Given the description of an element on the screen output the (x, y) to click on. 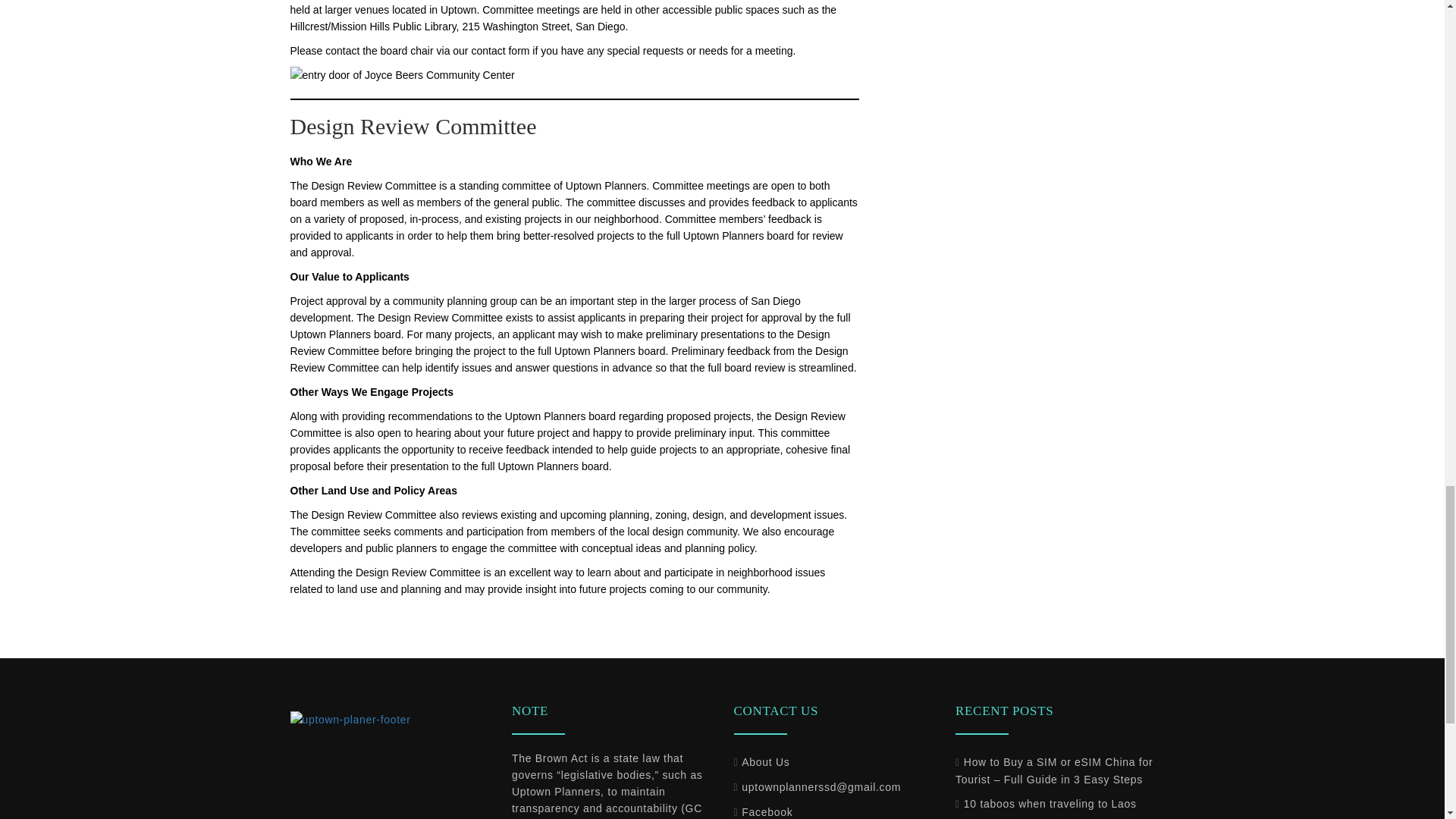
10 taboos when traveling to Laos (1046, 803)
About Us (761, 761)
Facebook (763, 811)
contact the board chair (378, 50)
